Given the description of an element on the screen output the (x, y) to click on. 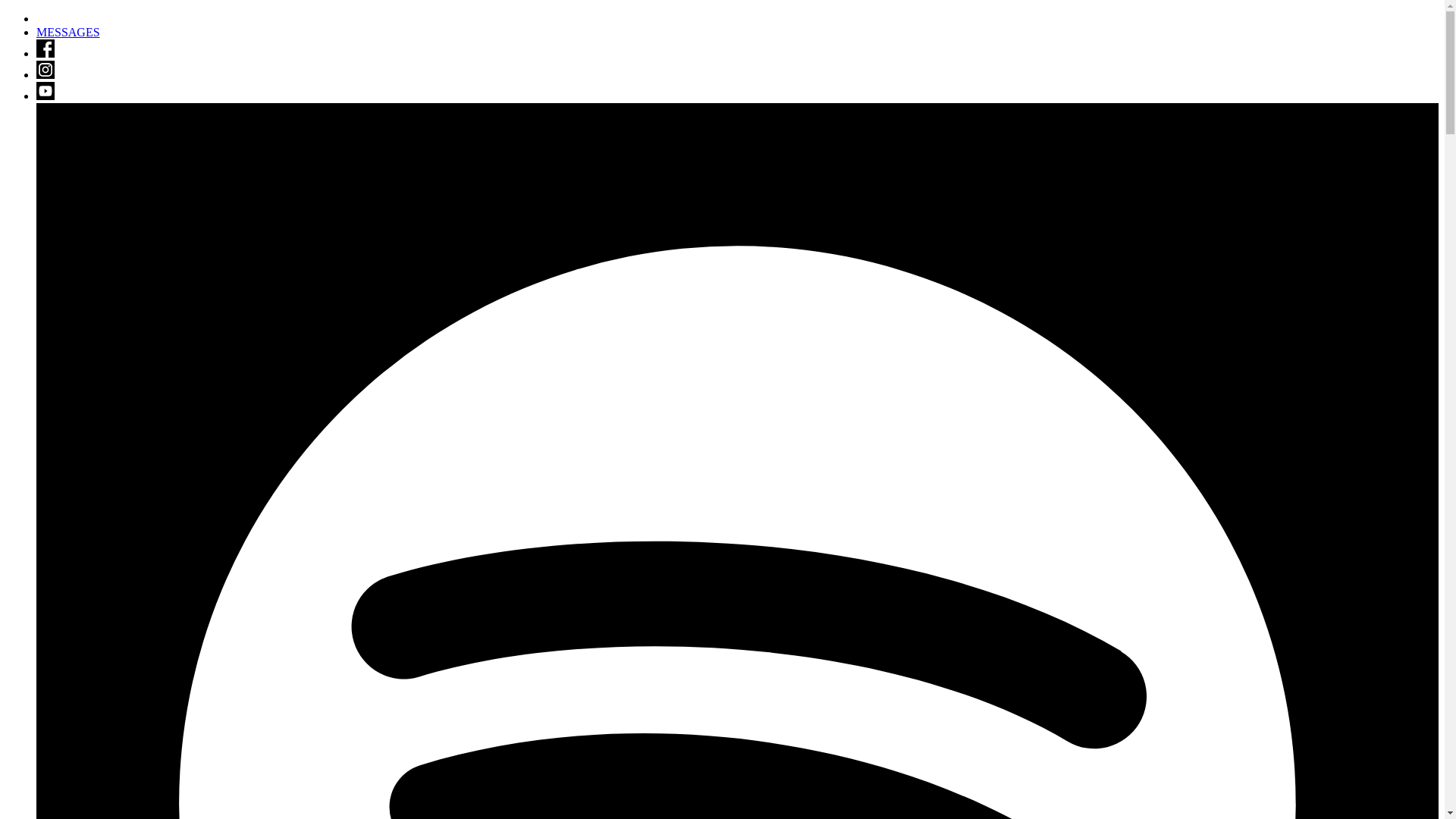
MESSAGES Element type: text (68, 31)
